Given the description of an element on the screen output the (x, y) to click on. 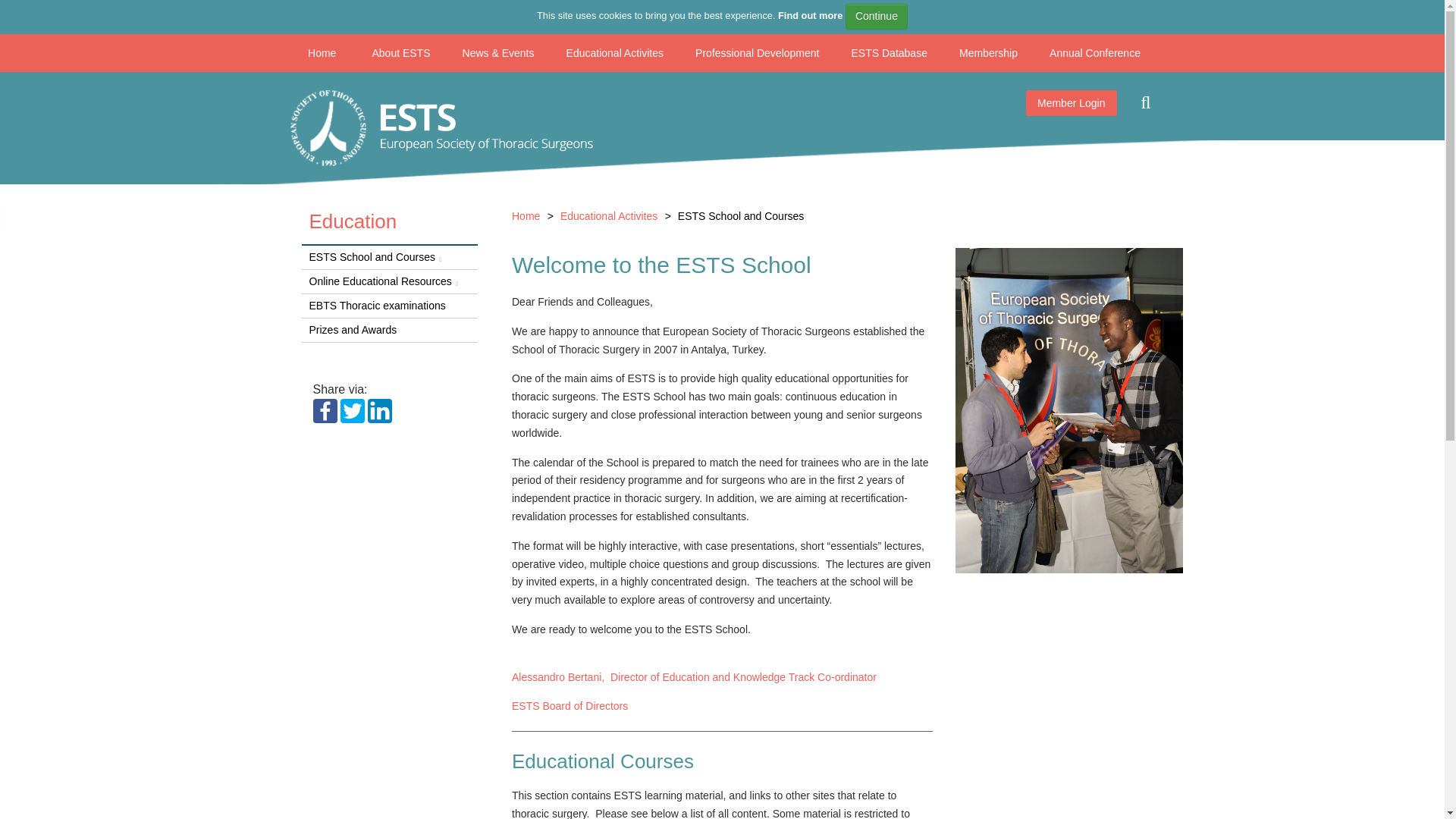
Continue (876, 16)
Share on LinkedIn (379, 410)
Find out more (810, 15)
Return to the home page (440, 128)
Tweet (352, 410)
Skip to main content (21, 21)
Search ESTS (1144, 103)
Home (321, 53)
Continue (876, 16)
Share on Facebook (324, 410)
